Given the description of an element on the screen output the (x, y) to click on. 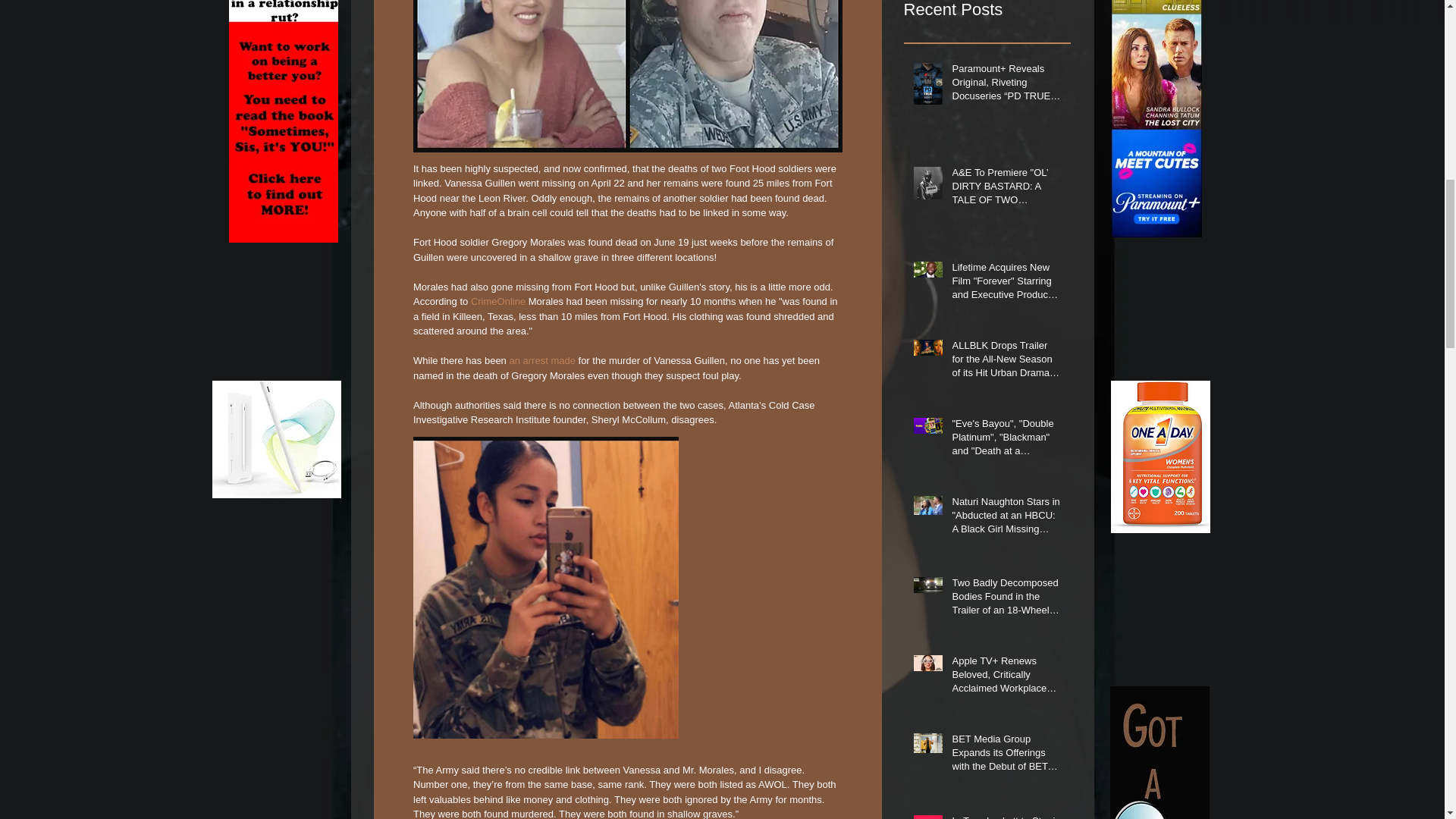
CrimeOnline (497, 301)
an arrest made (541, 360)
